Given the description of an element on the screen output the (x, y) to click on. 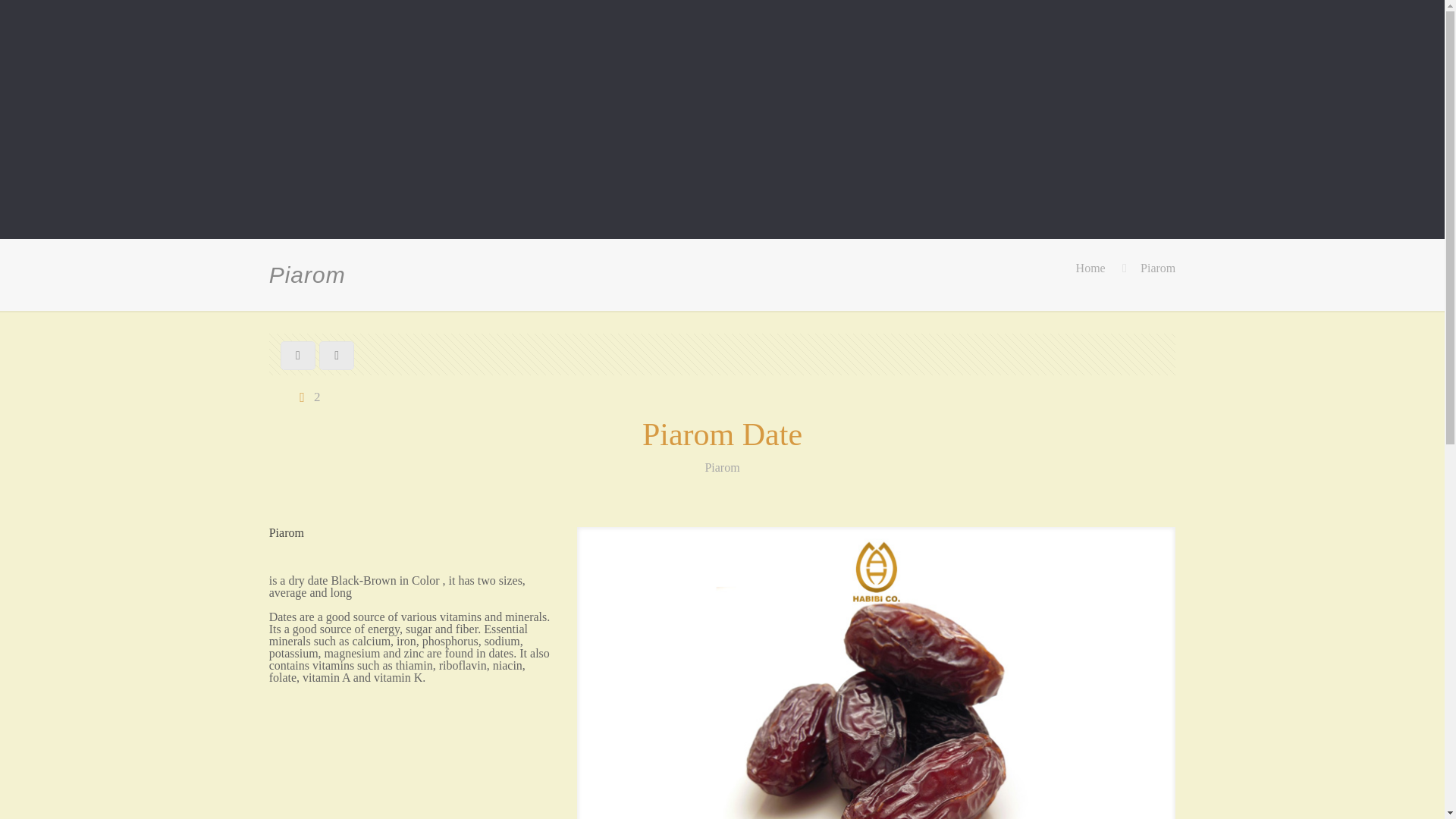
2 (306, 396)
Home (1090, 267)
Piarom (1157, 267)
